Given the description of an element on the screen output the (x, y) to click on. 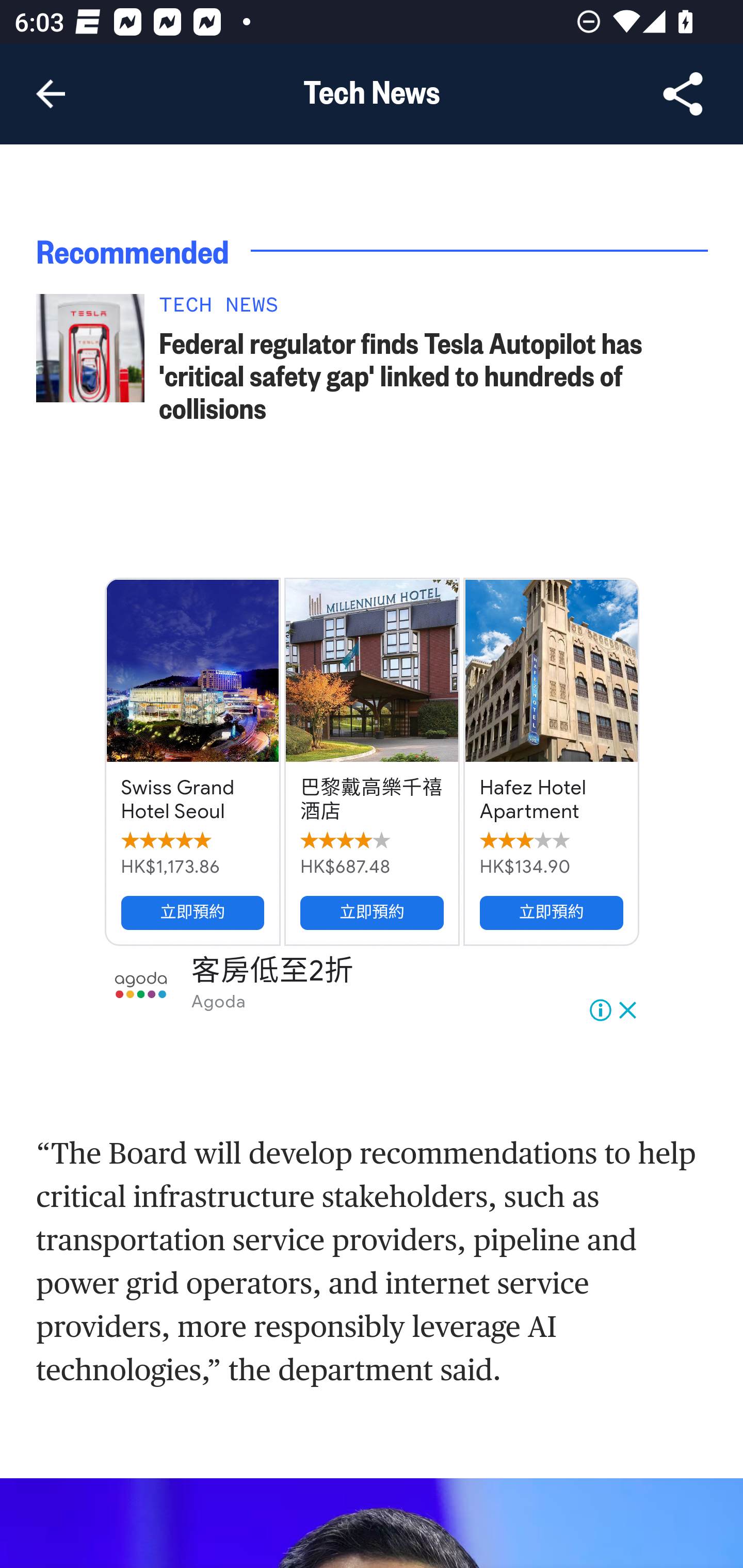
Navigate up (50, 93)
Share Article, button (683, 94)
TECH NEWS (434, 311)
客房低至2折 Agoda 客房低至2折 Agoda (372, 986)
